Given the description of an element on the screen output the (x, y) to click on. 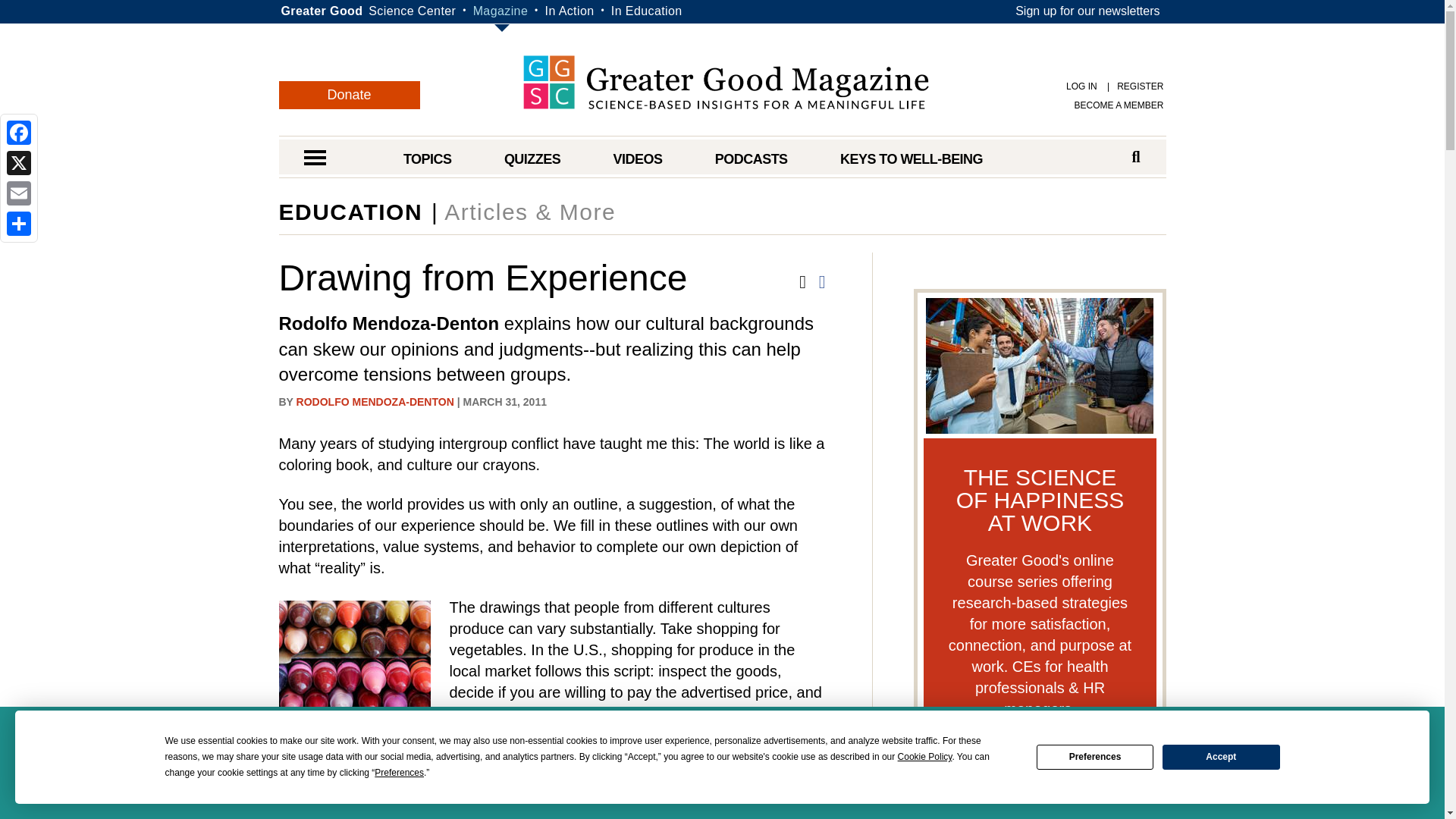
Greater Good In Education (646, 10)
The Science of Happiness at Work (1039, 768)
nav menu (313, 158)
Greater Good Magazine (725, 81)
Greater Good Science Center (411, 10)
In Action (569, 10)
REGISTER (1131, 86)
QUIZZES (531, 158)
Sign up for our newsletters (1086, 11)
Donate (349, 94)
LOG IN (1081, 86)
Magazine (500, 10)
Preferences (1094, 757)
Accept (1220, 757)
Science Center (411, 10)
